Given the description of an element on the screen output the (x, y) to click on. 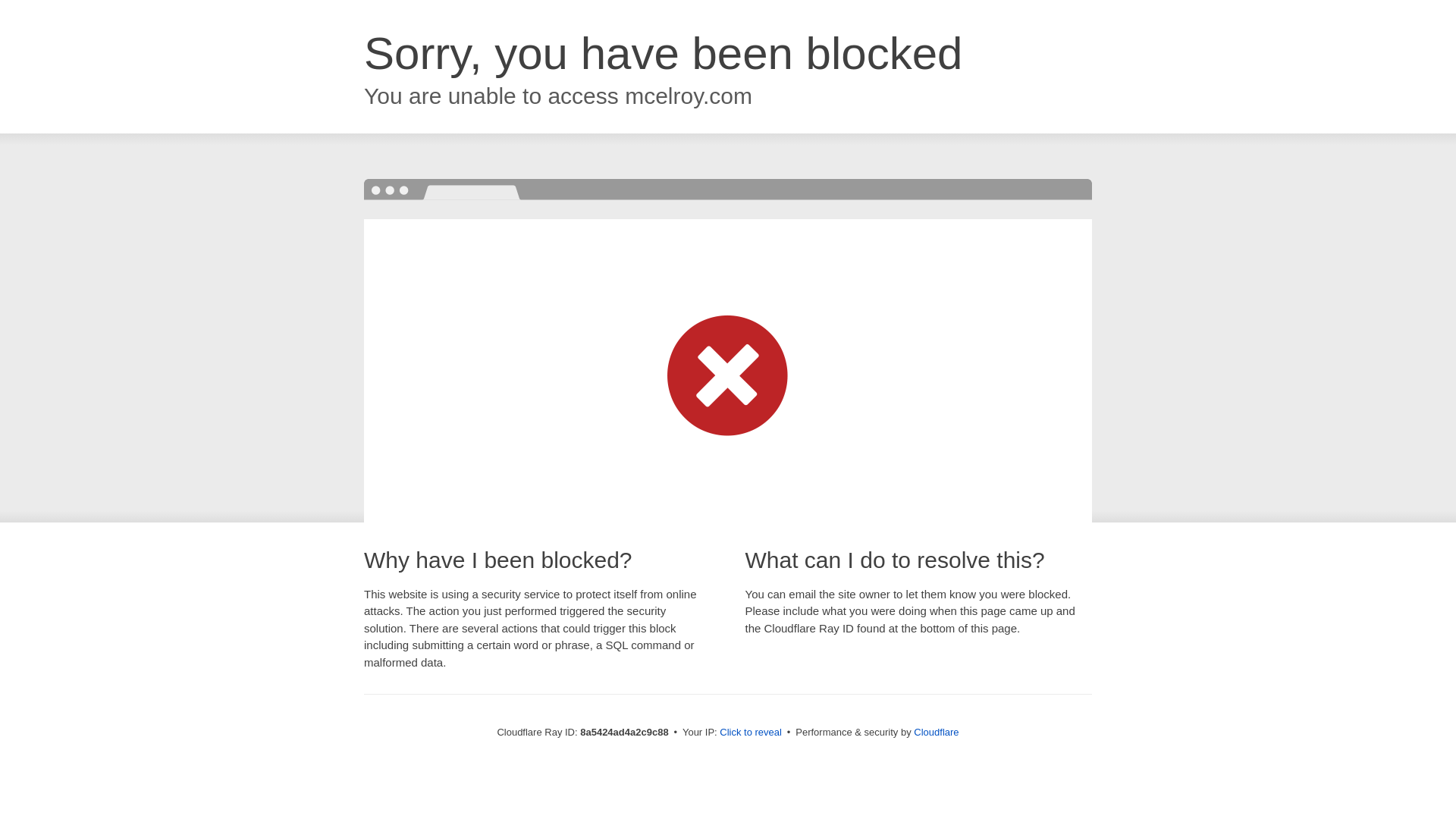
Cloudflare (936, 731)
Click to reveal (750, 732)
